Given the description of an element on the screen output the (x, y) to click on. 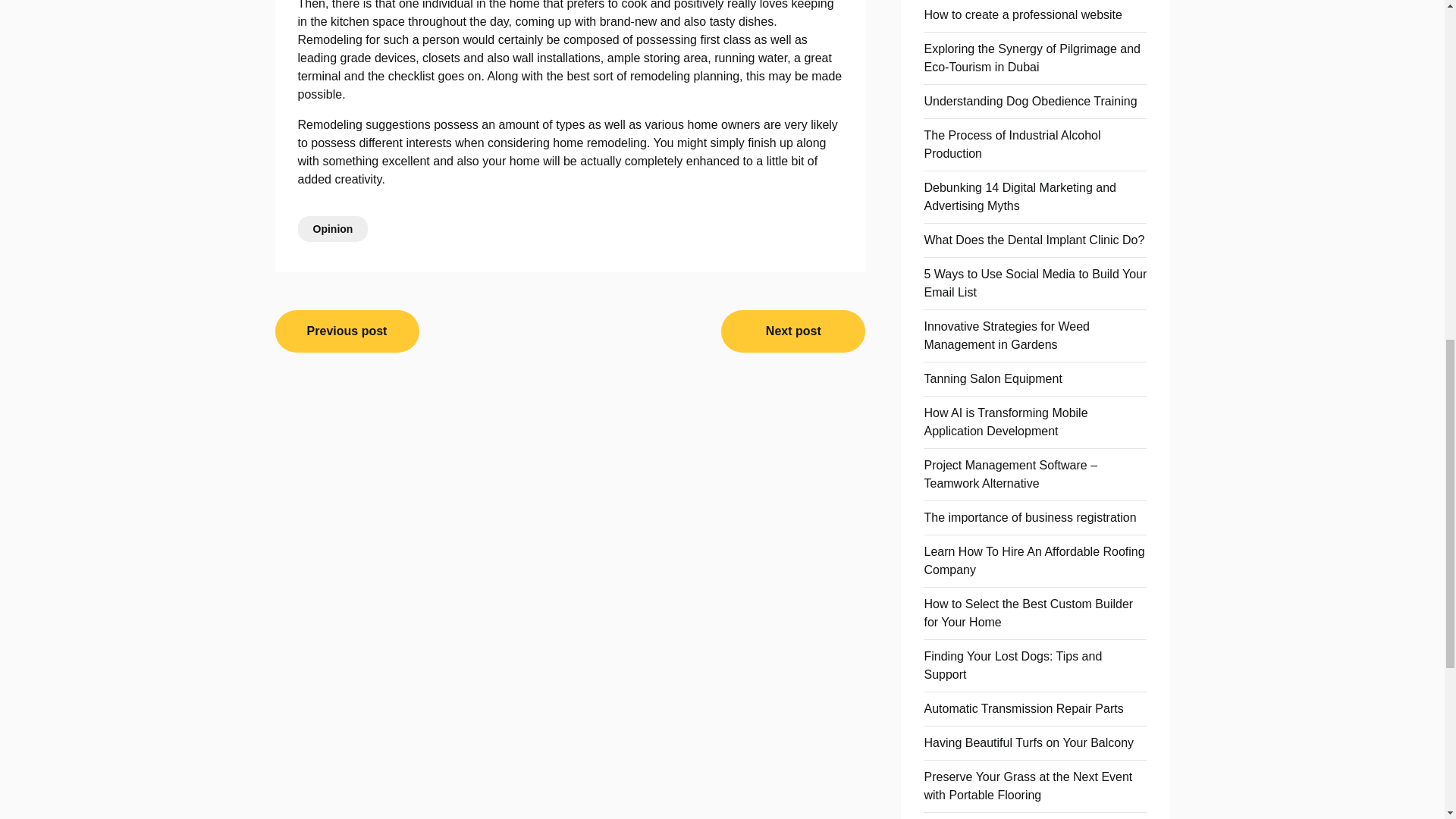
Tanning Salon Equipment (992, 378)
Previous post (347, 331)
Debunking 14 Digital Marketing and Advertising Myths (1019, 196)
Having Beautiful Turfs on Your Balcony (1028, 742)
The Process of Industrial Alcohol Production (1011, 143)
What Does the Dental Implant Clinic Do? (1033, 239)
Understanding Dog Obedience Training (1030, 101)
Preserve Your Grass at the Next Event with Portable Flooring (1027, 785)
Learn How To Hire An Affordable Roofing Company (1033, 560)
5 Ways to Use Social Media to Build Your Email List (1035, 282)
